Given the description of an element on the screen output the (x, y) to click on. 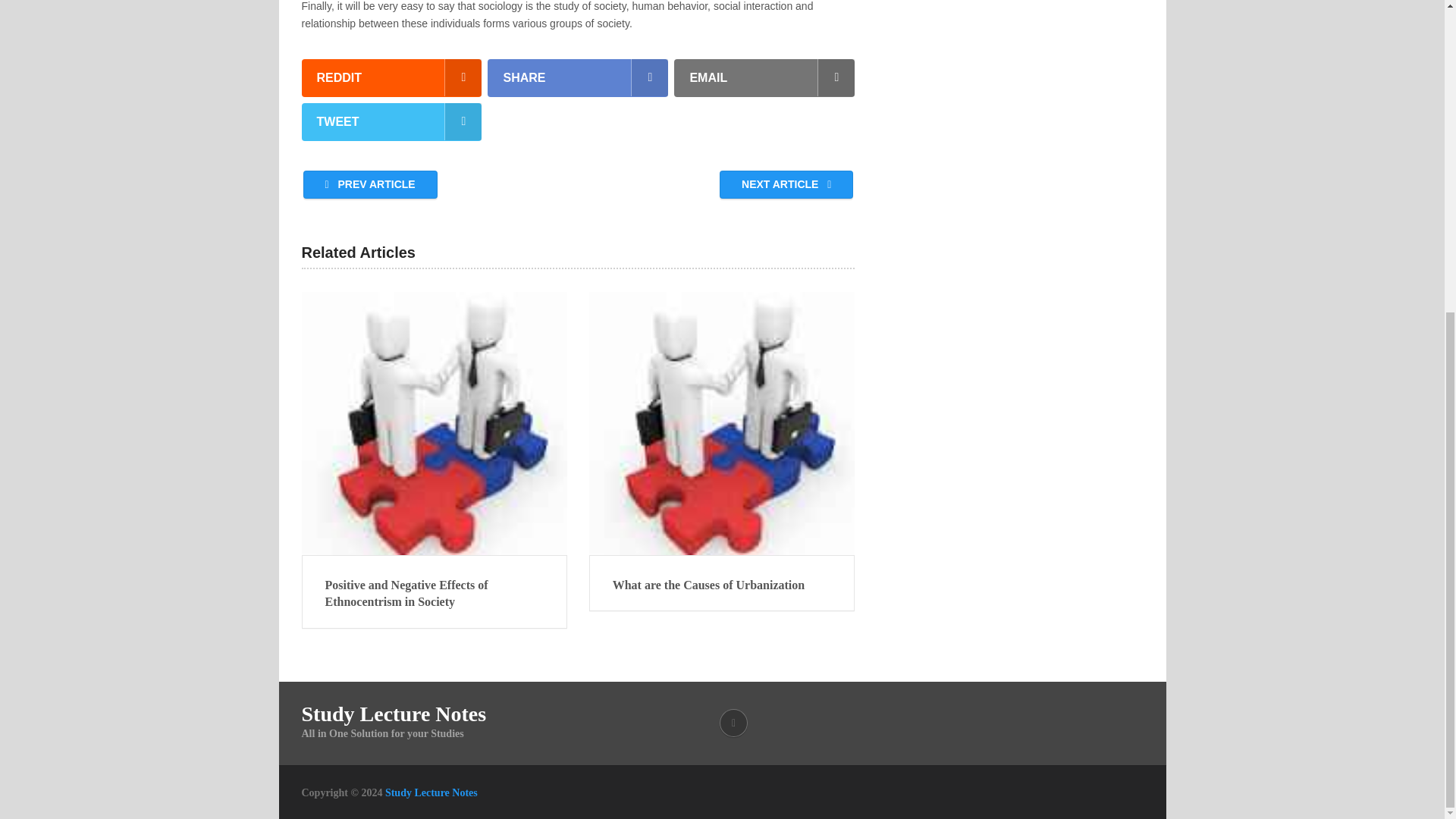
Study Lecture Notes (393, 713)
NEXT ARTICLE (786, 184)
Positive and Negative Effects of Ethnocentrism in Society (433, 593)
PREV ARTICLE (370, 184)
Positive and Negative Effects of Ethnocentrism in Society (434, 423)
Positive and Negative Effects of Ethnocentrism in Society (433, 593)
 All in One Solution for your Studies (431, 792)
Study Lecture Notes (431, 792)
What are the Causes of Urbanization (721, 423)
SHARE (577, 77)
REDDIT (391, 77)
What are the Causes of Urbanization (721, 585)
EMAIL (764, 77)
TWEET (391, 121)
What are the Causes of Urbanization (721, 585)
